Given the description of an element on the screen output the (x, y) to click on. 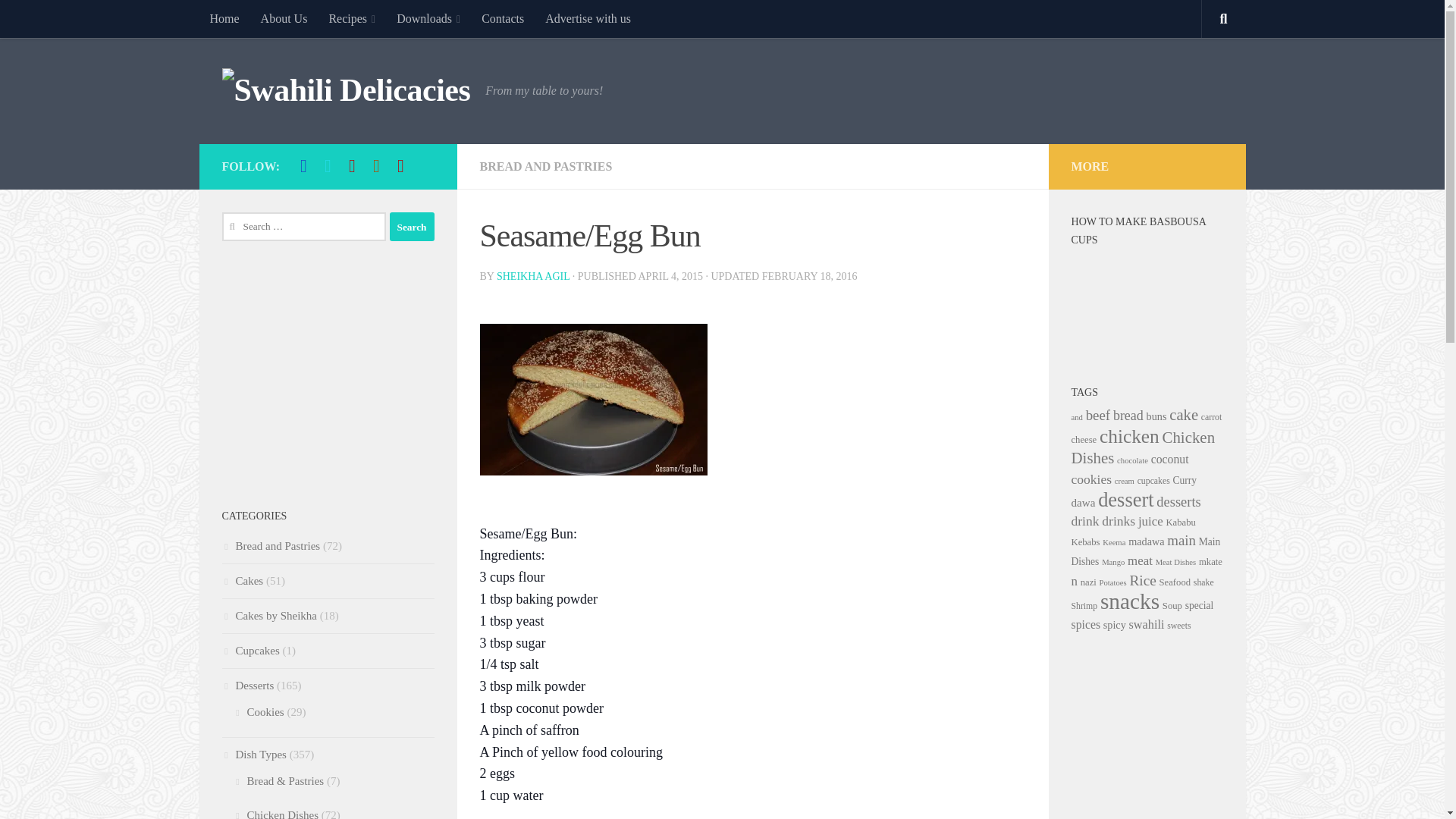
Posts by Sheikha Agil (532, 276)
Skip to content (59, 20)
About Us (284, 18)
Facebook (303, 166)
Home (223, 18)
Youtube (351, 166)
Search (411, 226)
Recipes (351, 18)
Twitter (327, 166)
Search (411, 226)
